Given the description of an element on the screen output the (x, y) to click on. 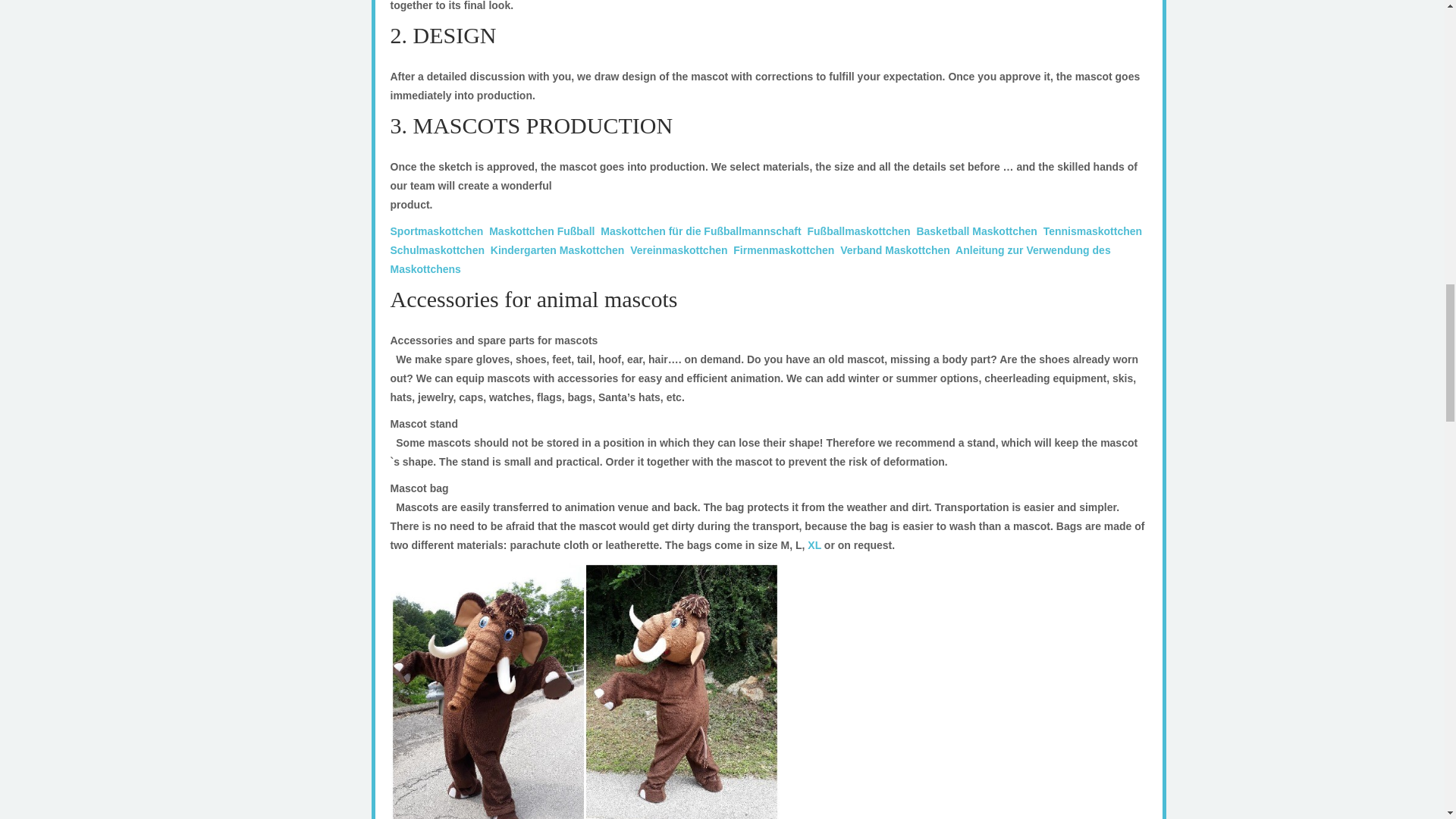
Schulmaskottchen (436, 250)
Sportmaskottchen (436, 231)
Firmenmaskottchen (783, 250)
Kindergarten Maskottchen (557, 250)
Vereinmaskottchen (678, 250)
Basketball Maskottchen (975, 231)
XL (814, 544)
Verband Maskottchen (895, 250)
Anleitung zur Verwendung des Maskottchens (749, 259)
Tennismaskottchen (1092, 231)
